Given the description of an element on the screen output the (x, y) to click on. 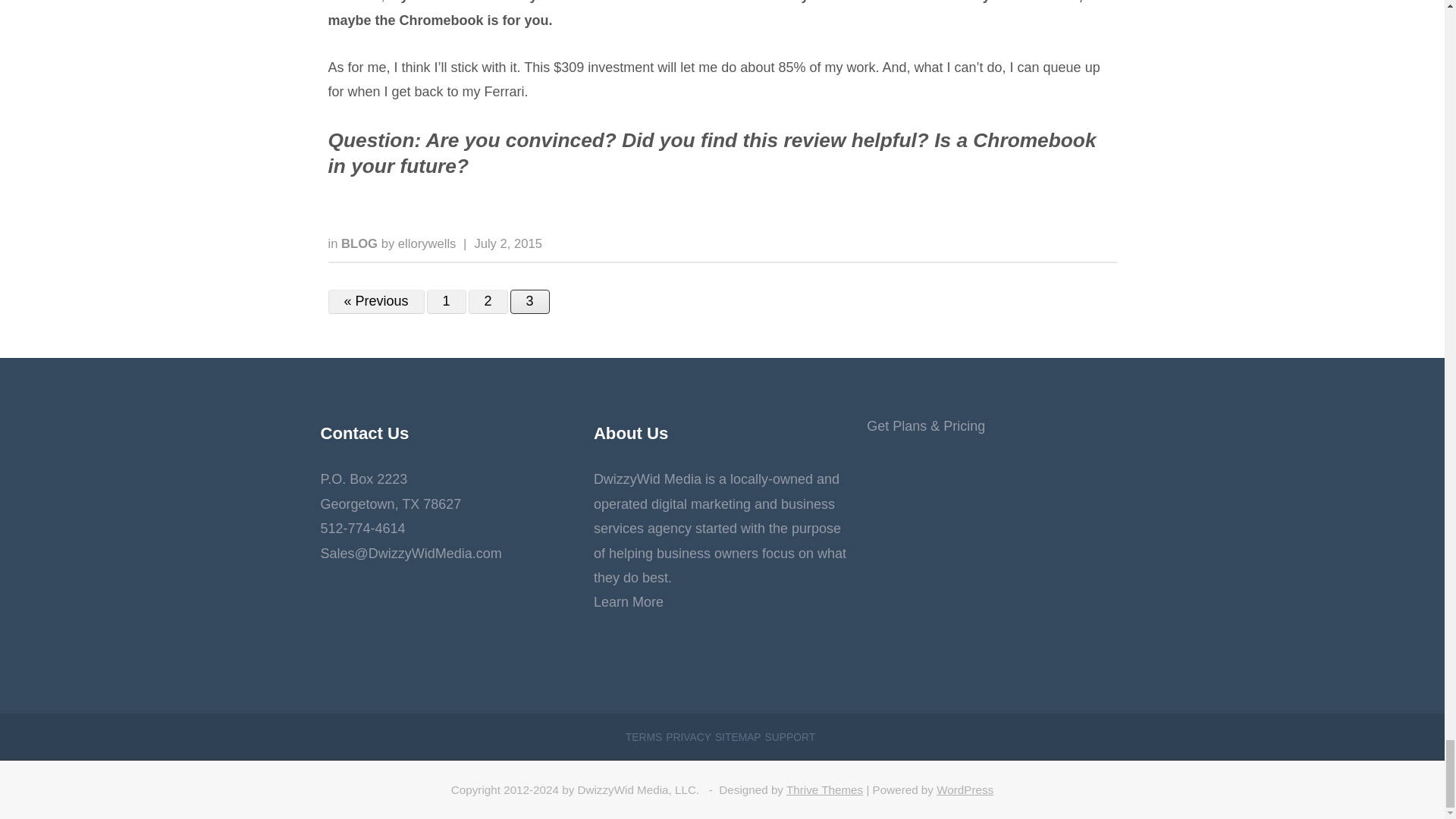
Thrive Themes (824, 789)
TERMS (644, 736)
WordPress (964, 789)
SUPPORT (790, 736)
1 (445, 301)
ellorywells (427, 243)
Learn More (628, 601)
2 (488, 301)
PRIVACY (688, 736)
SITEMAP (737, 736)
BLOG (360, 243)
512-774-4614 (362, 528)
